Given the description of an element on the screen output the (x, y) to click on. 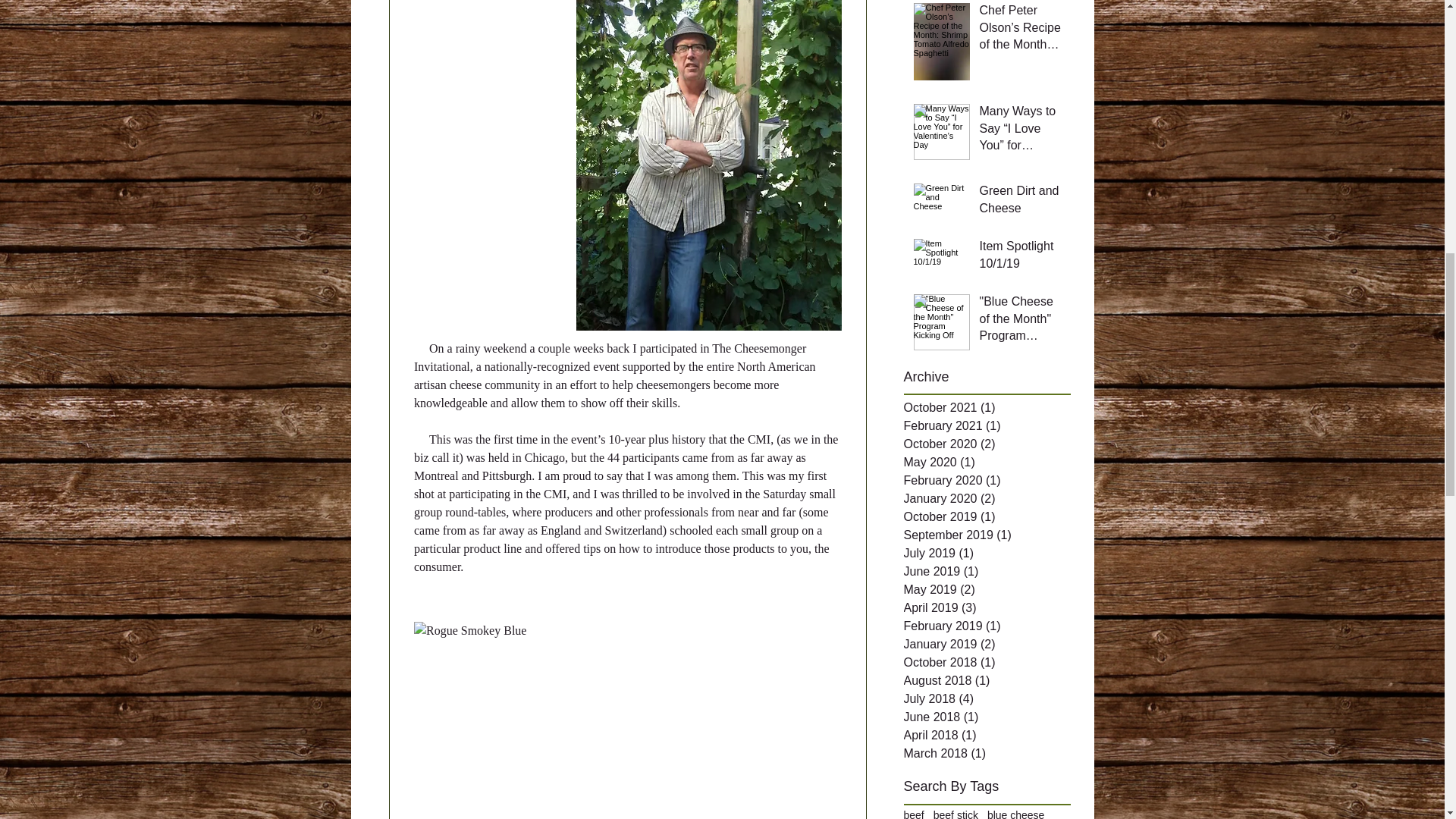
Green Dirt and Cheese (1020, 202)
"Blue Cheese of the Month" Program Kicking Off (1020, 321)
